Given the description of an element on the screen output the (x, y) to click on. 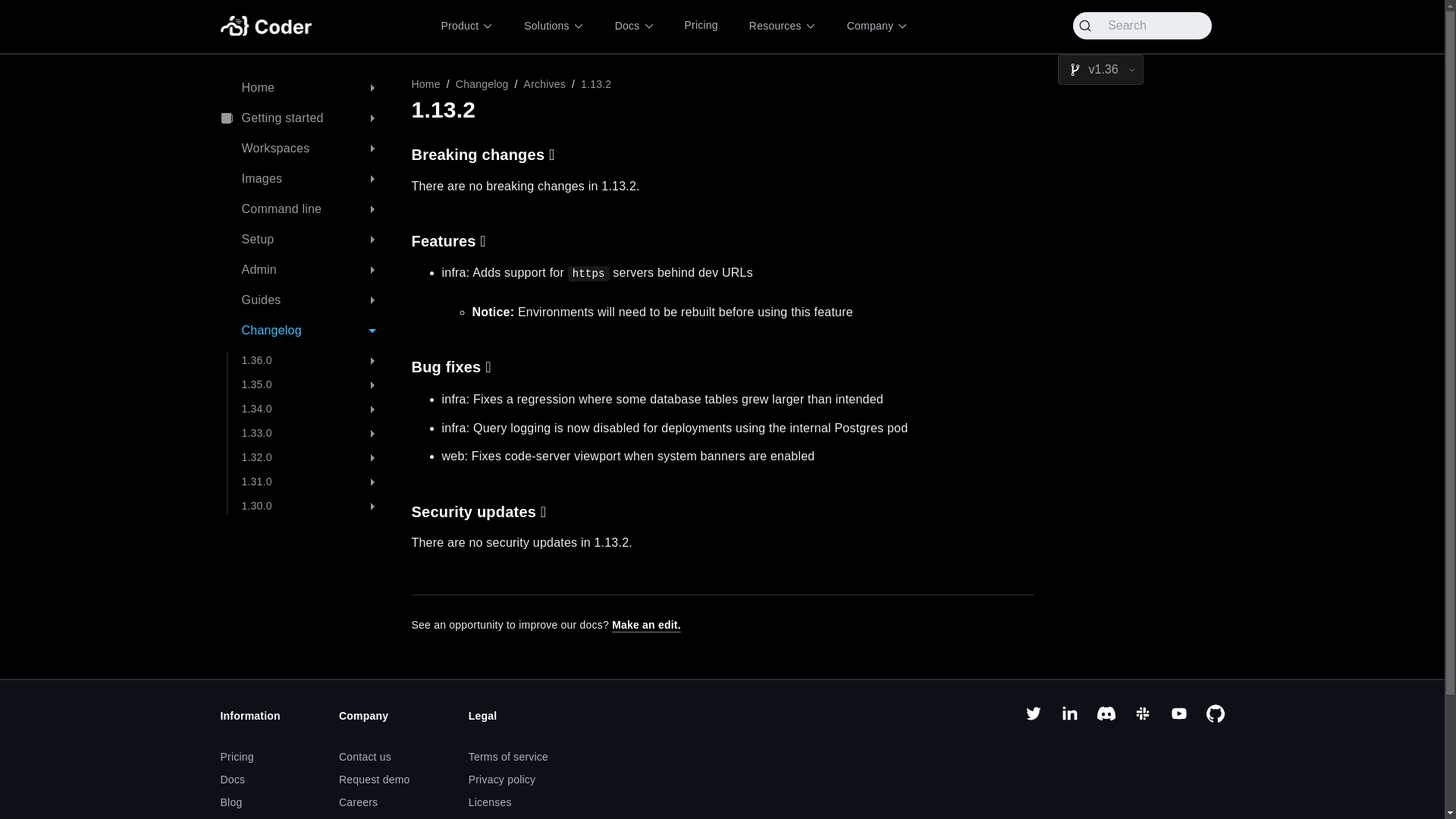
Getting started (303, 117)
Pricing (700, 25)
Admin (303, 270)
Slack (1141, 718)
1.34.0 (314, 409)
Home (303, 87)
Changelog (481, 83)
Home (424, 83)
1.36.0 (314, 361)
Command line (303, 208)
